Given the description of an element on the screen output the (x, y) to click on. 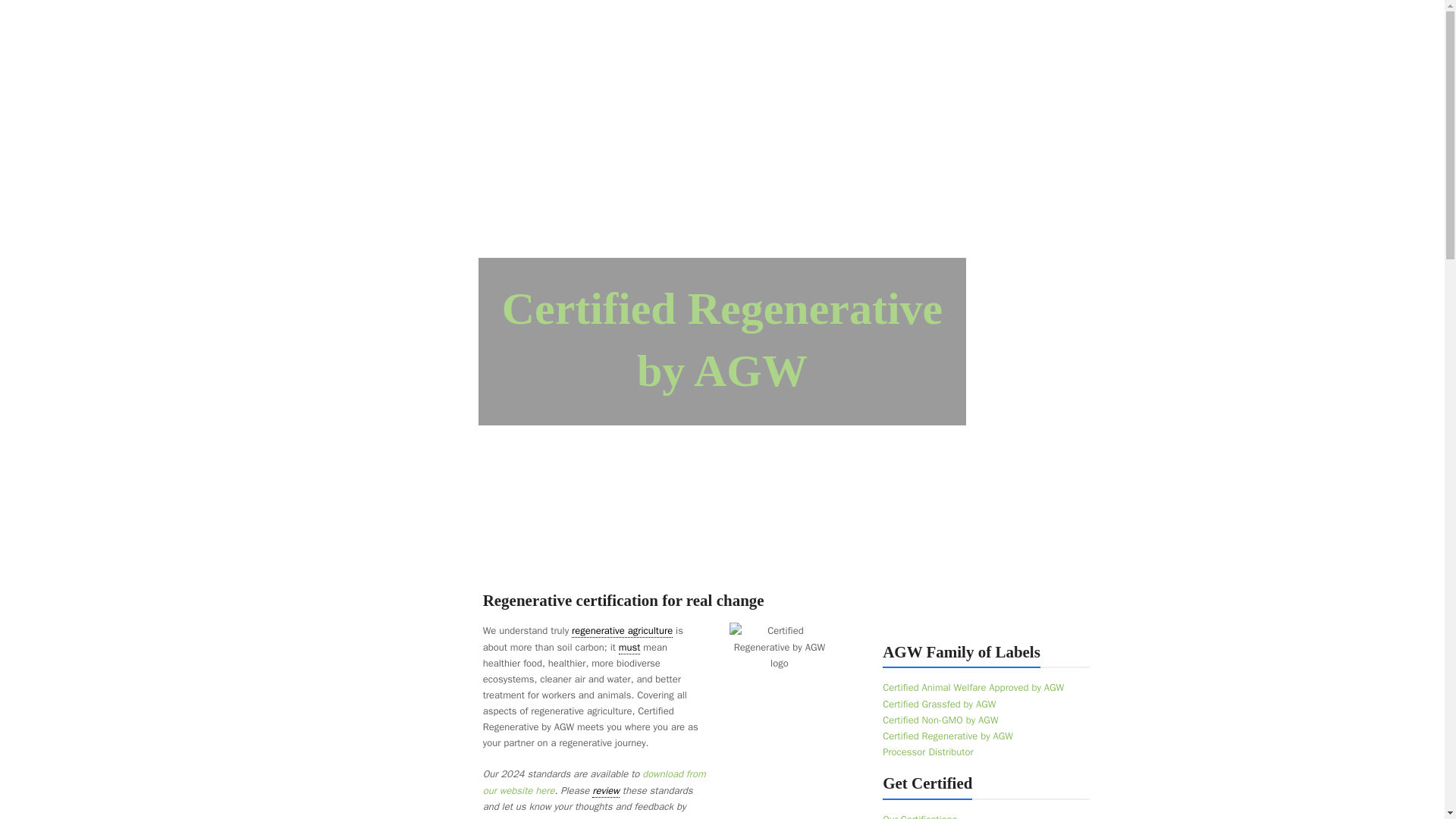
Certified Regenerative by AGW logo (779, 646)
Glossary: Regenerative agriculture (622, 631)
Glossary: Must (629, 646)
Glossary: Review (606, 790)
download from our website here (594, 781)
